Given the description of an element on the screen output the (x, y) to click on. 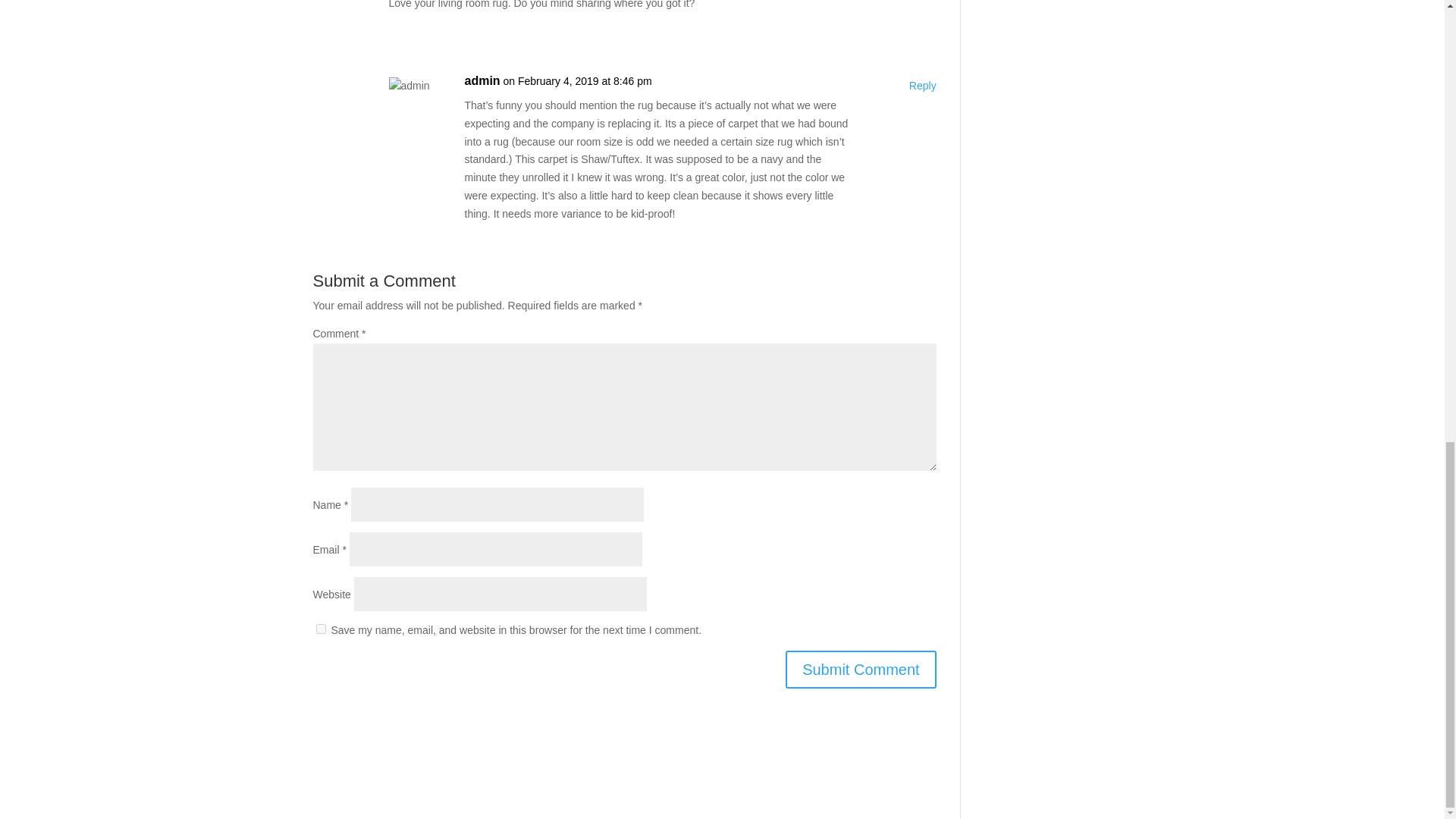
Submit Comment (861, 669)
Reply (922, 85)
Submit Comment (861, 669)
yes (319, 628)
